Given the description of an element on the screen output the (x, y) to click on. 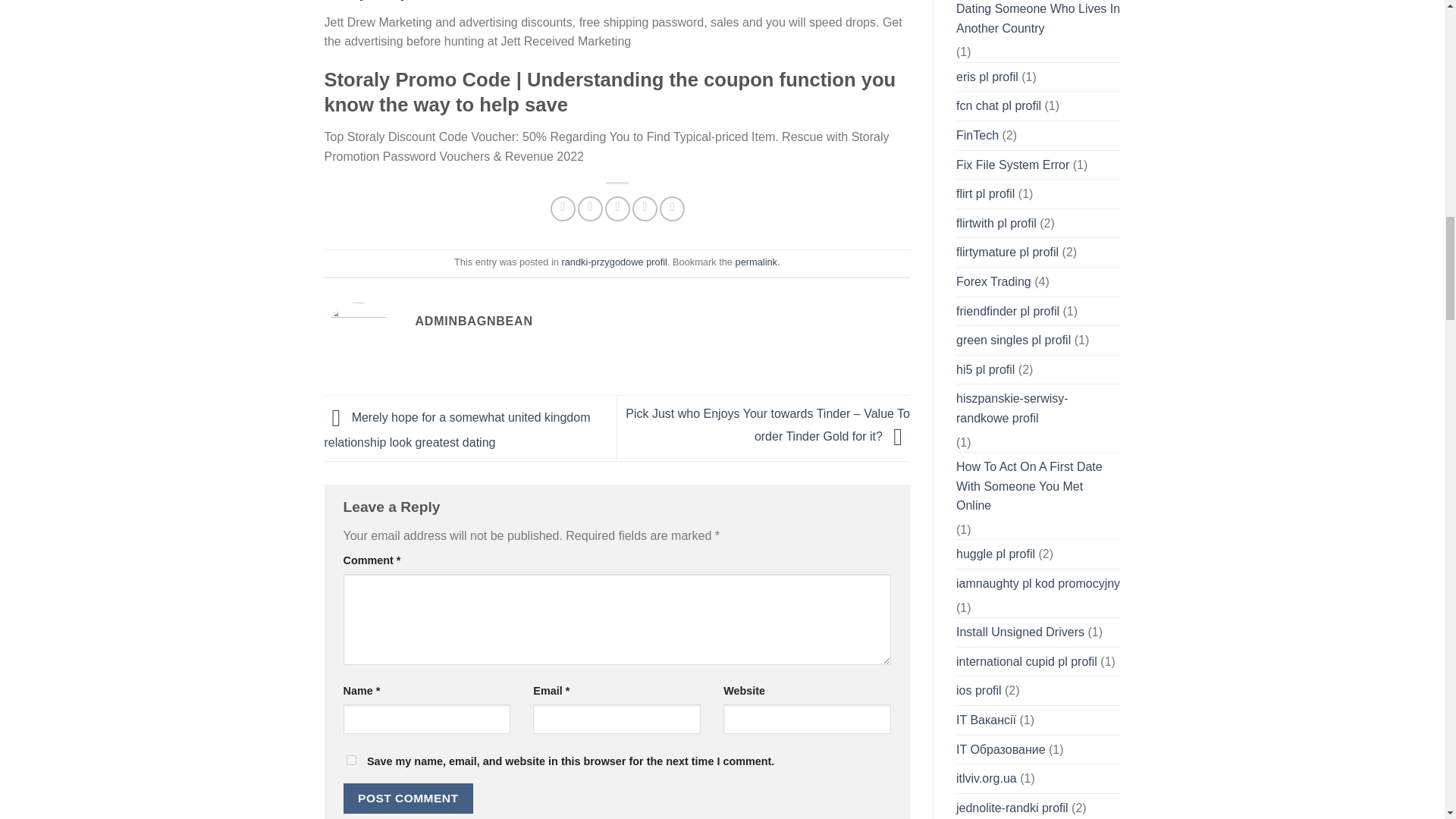
Pin on Pinterest (644, 208)
Post Comment (407, 797)
Share on Twitter (590, 208)
Email to a Friend (617, 208)
Post Comment (407, 797)
permalink (756, 261)
Share on Facebook (562, 208)
Share on LinkedIn (671, 208)
yes (350, 759)
randki-przygodowe profil (613, 261)
